Given the description of an element on the screen output the (x, y) to click on. 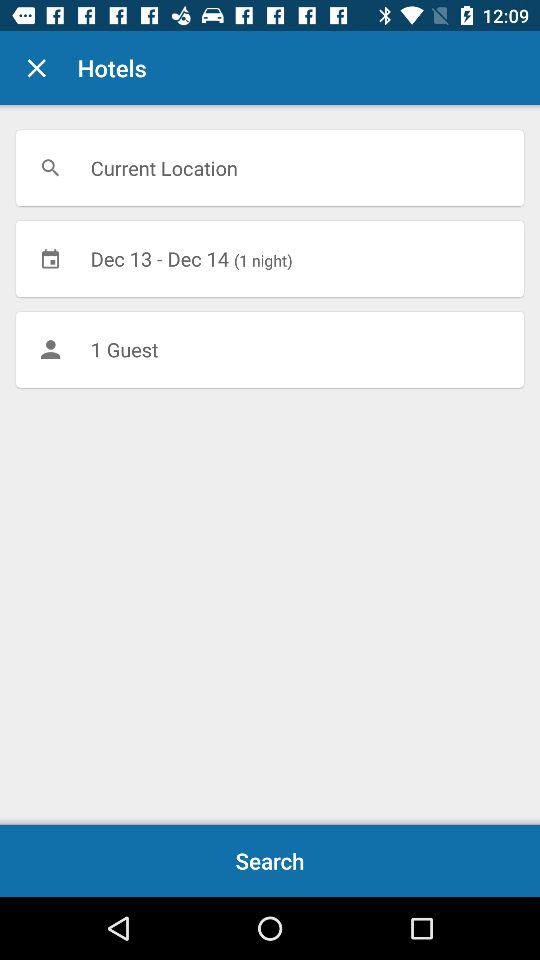
press the icon next to hotels (36, 68)
